Given the description of an element on the screen output the (x, y) to click on. 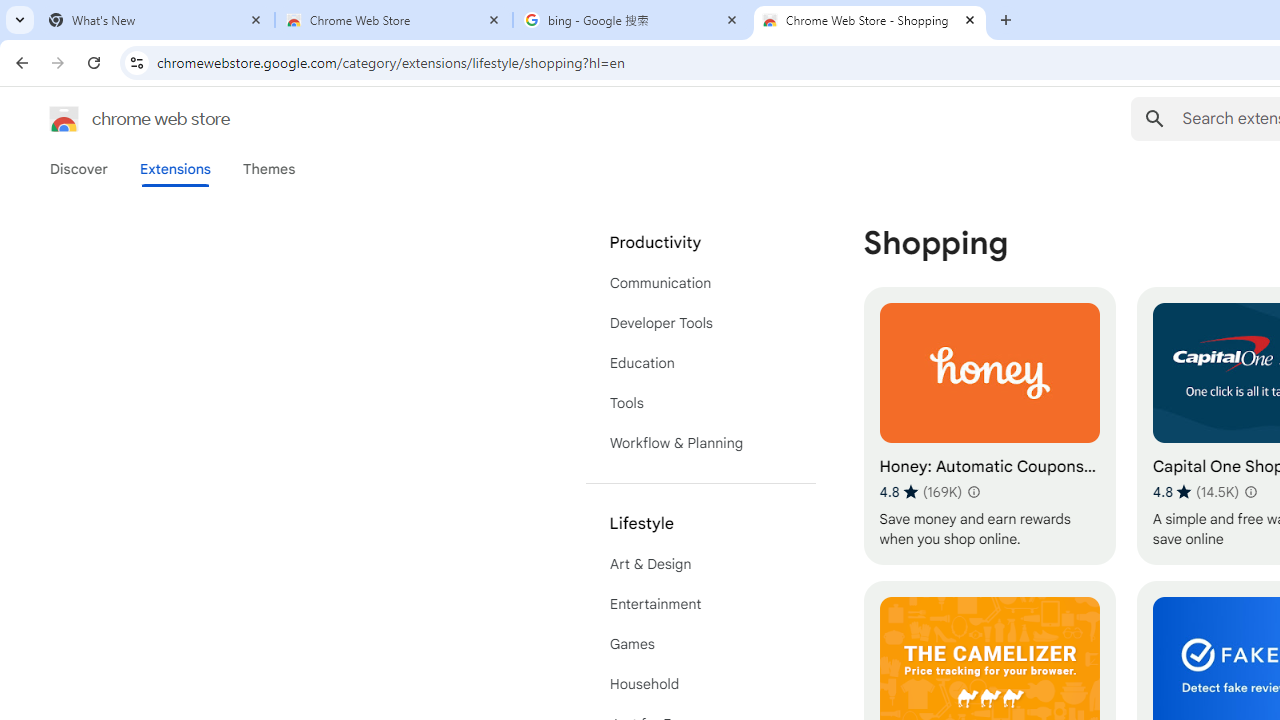
Average rating 4.8 out of 5 stars. 169K ratings. (920, 491)
Themes (269, 169)
Communication (700, 282)
Games (700, 643)
Chrome Web Store - Shopping (870, 20)
Chrome Web Store logo chrome web store (118, 118)
Extensions (174, 169)
Education (700, 362)
Chrome Web Store (394, 20)
Honey: Automatic Coupons & Rewards (989, 426)
Household (700, 683)
